Given the description of an element on the screen output the (x, y) to click on. 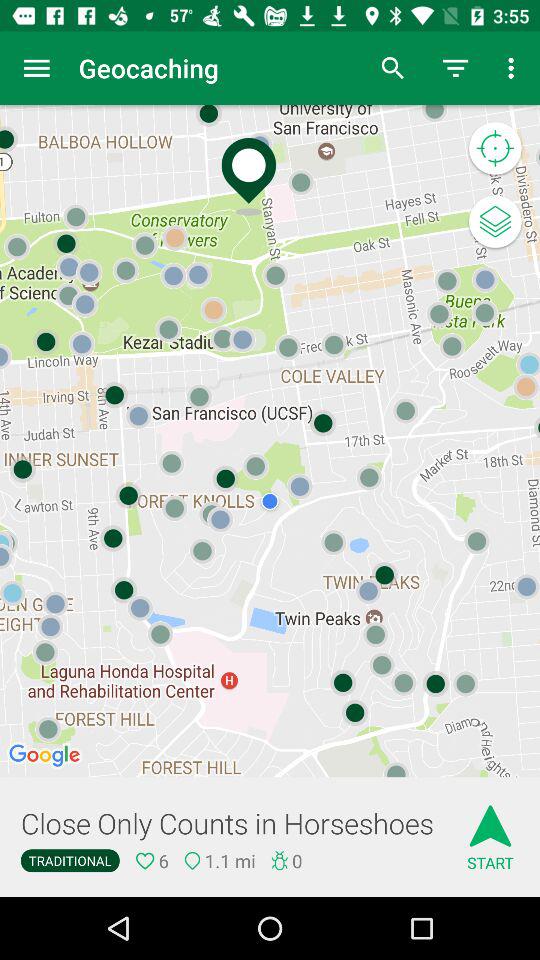
turn off icon to the right of the close only counts icon (490, 830)
